Given the description of an element on the screen output the (x, y) to click on. 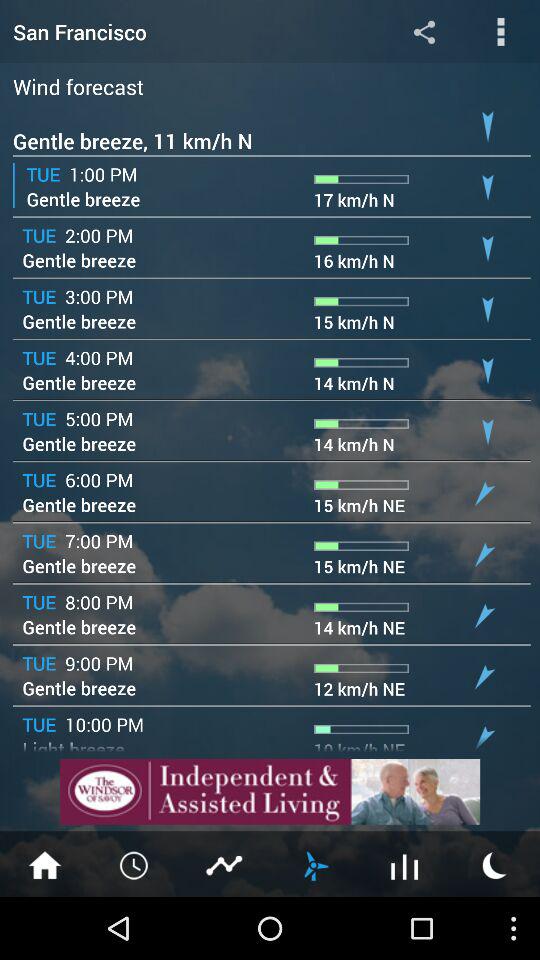
go home (45, 864)
